Given the description of an element on the screen output the (x, y) to click on. 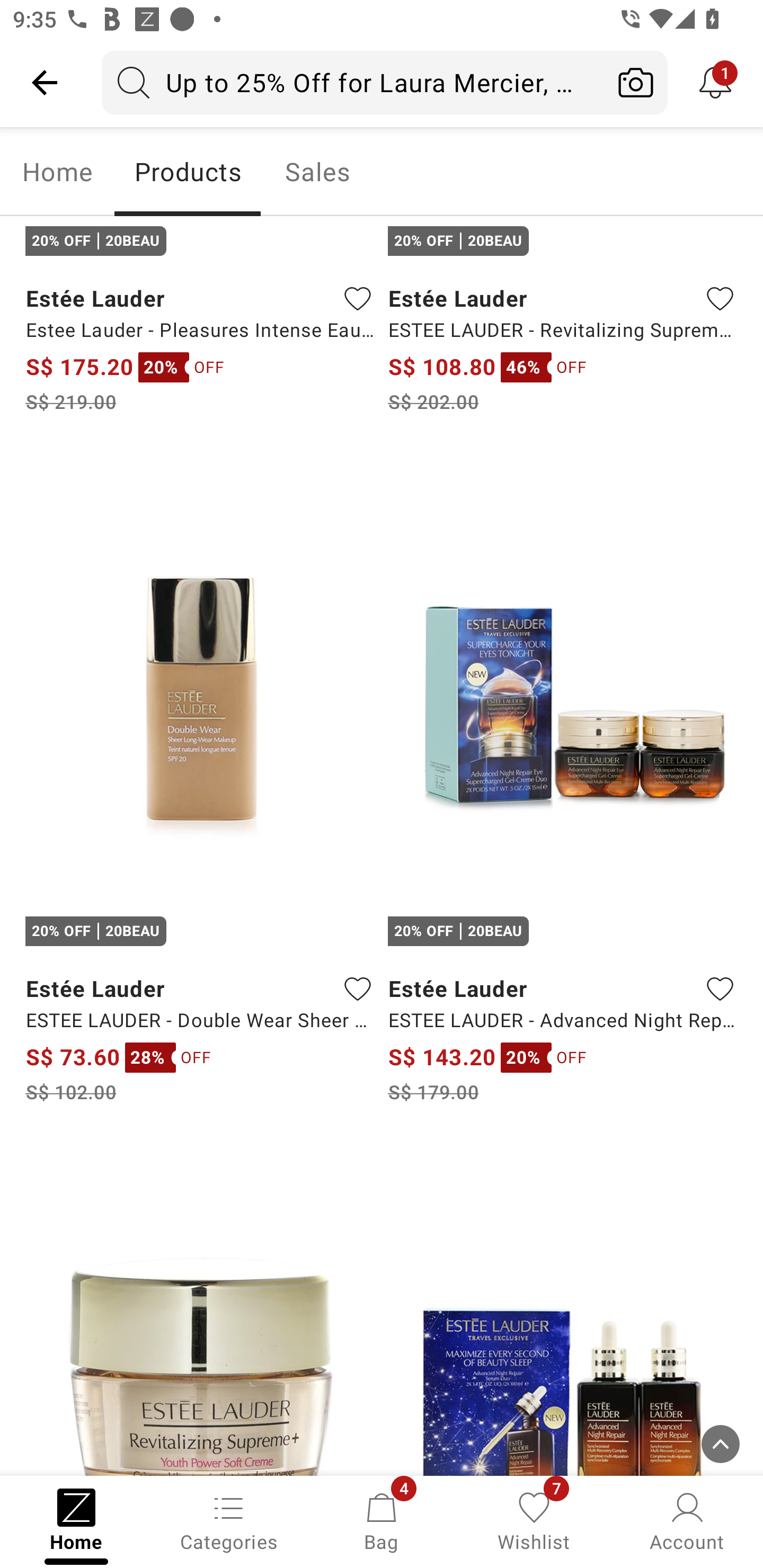
Navigate up (44, 82)
Home (57, 171)
Sales (317, 171)
Categories (228, 1519)
Bag, 4 new notifications Bag (381, 1519)
Wishlist, 7 new notifications Wishlist (533, 1519)
Account (686, 1519)
